Given the description of an element on the screen output the (x, y) to click on. 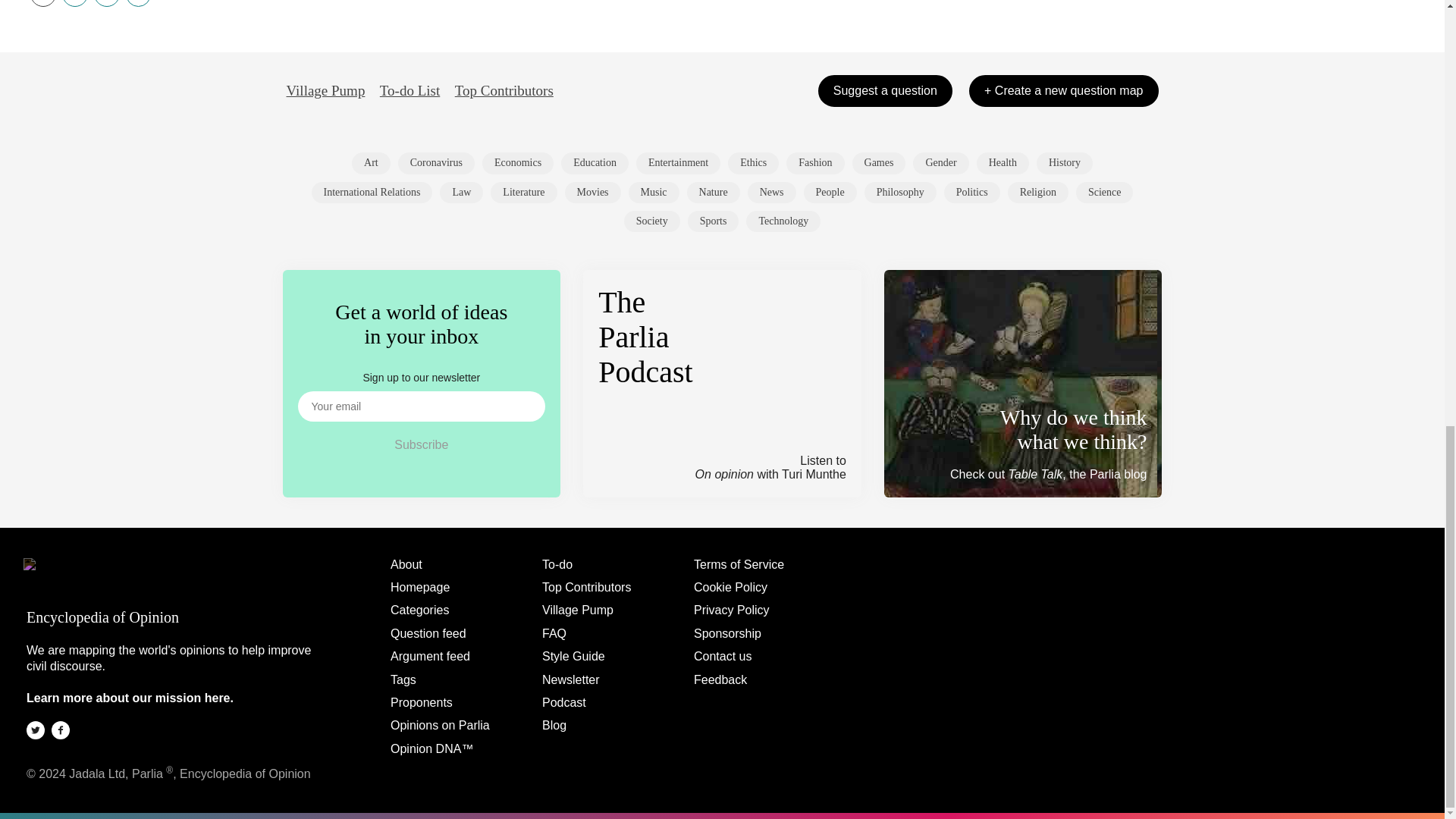
Category item (678, 162)
Category item (592, 192)
Category item (878, 162)
Ethics (753, 162)
Category item (594, 162)
Category item (523, 192)
Art (371, 162)
Games (878, 162)
Coronavirus (435, 162)
Category item (753, 162)
